Given the description of an element on the screen output the (x, y) to click on. 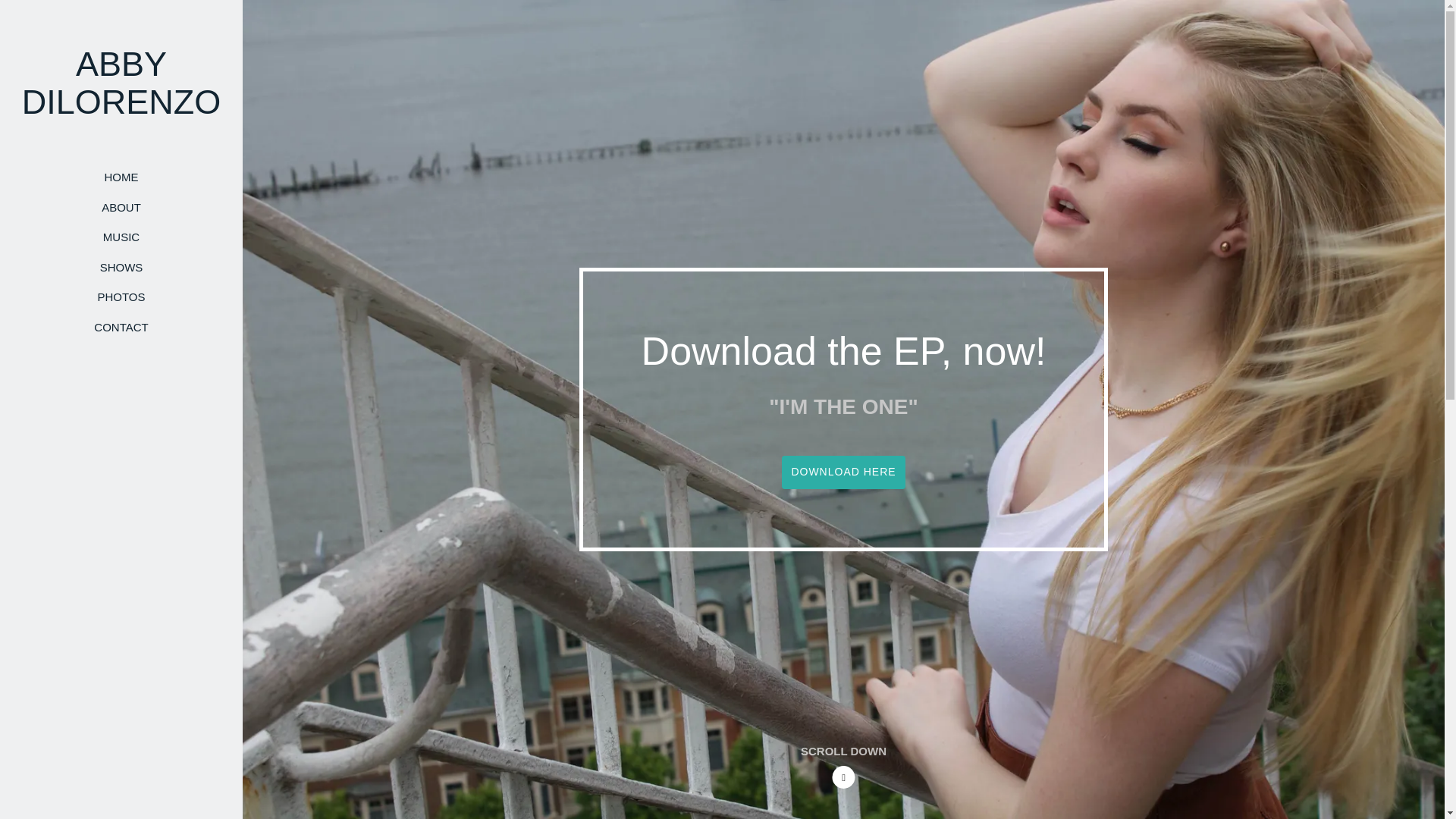
ABBY DILORENZO (120, 106)
HOME (121, 177)
ABOUT (121, 207)
MUSIC (121, 237)
CONTACT (121, 326)
SHOWS (121, 267)
DOWNLOAD HERE (842, 471)
PHOTOS (120, 297)
